Given the description of an element on the screen output the (x, y) to click on. 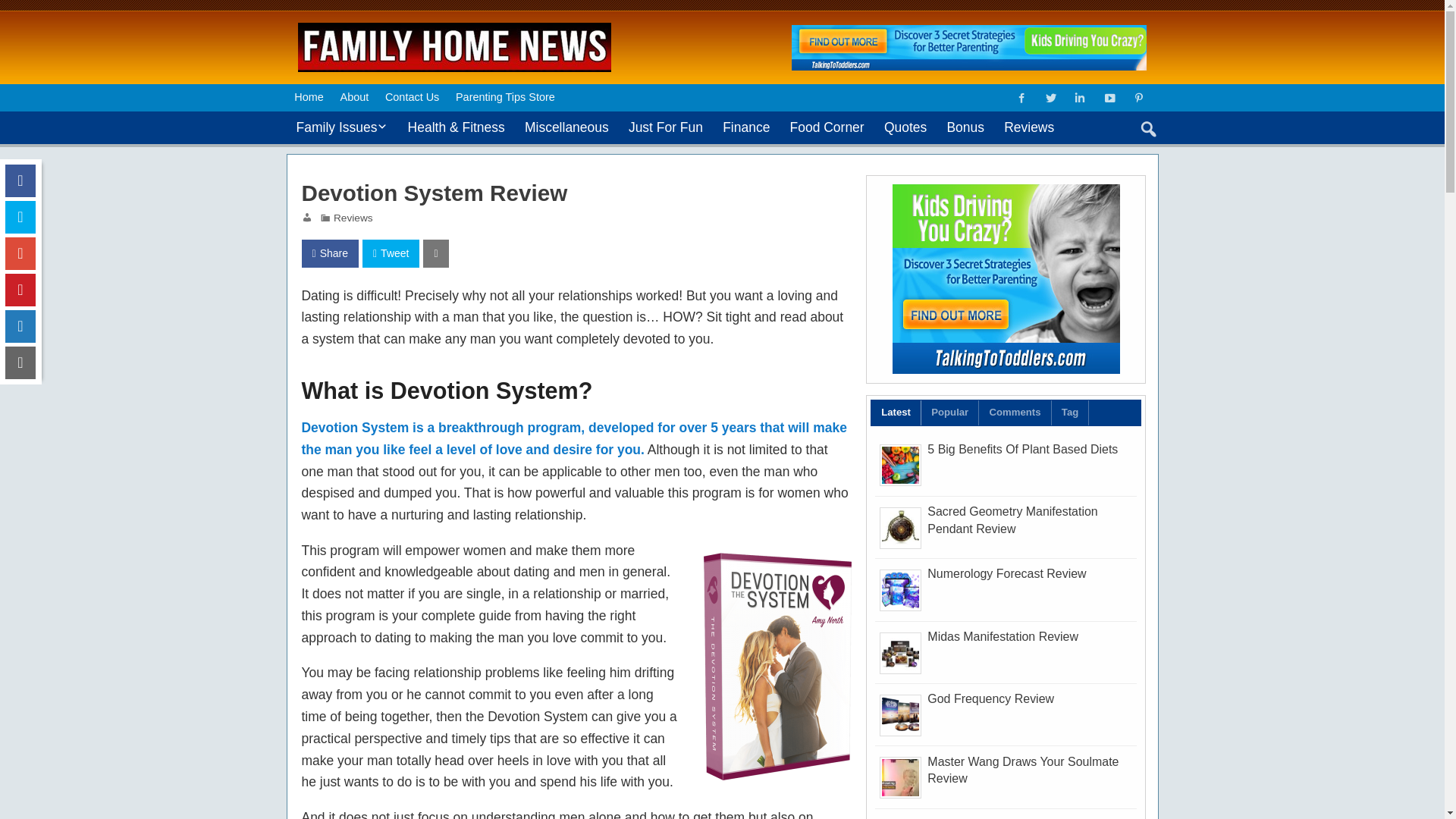
Tweet on Twitter (390, 253)
Family Issues (341, 127)
About (354, 97)
Contact Us (411, 97)
Food Corner (825, 127)
Parenting Advice (363, 161)
Share On Facebook (329, 253)
Quotes (906, 127)
Reviews (1029, 127)
Family Home News (454, 28)
Reviews (352, 217)
Miscellaneous (566, 127)
Just For Fun (665, 127)
Parenting Tips Store (504, 97)
Home (308, 97)
